Given the description of an element on the screen output the (x, y) to click on. 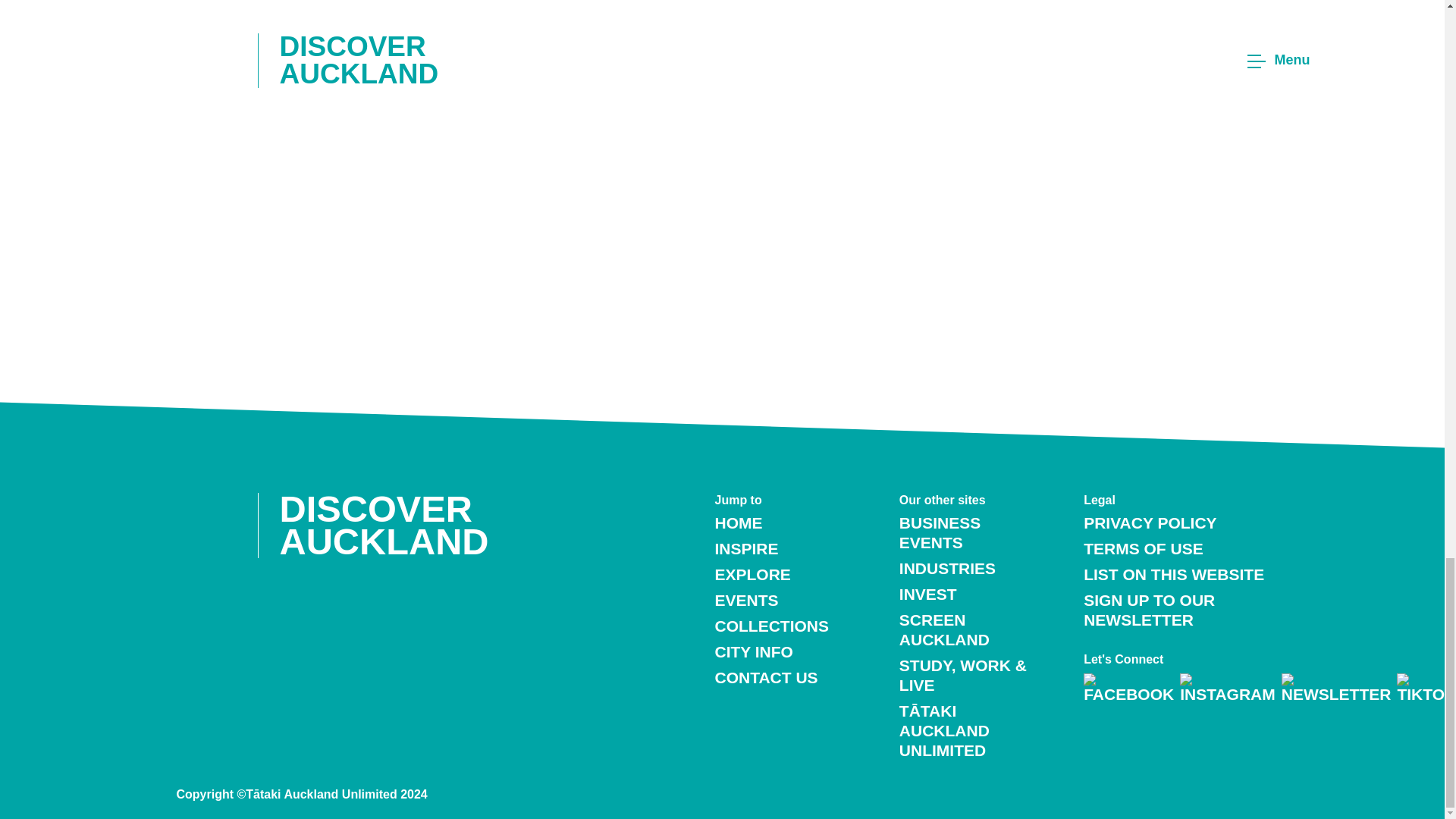
CONTACT US (765, 677)
PRIVACY POLICY (1149, 522)
SIGN UP TO OUR NEWSLETTER (1148, 609)
INDUSTRIES (947, 568)
TERMS OF USE (1143, 548)
INSPIRE (745, 548)
DISCOVER AUCKLAND (394, 525)
BUSINESS EVENTS (939, 532)
COLLECTIONS (771, 625)
LIST ON THIS WEBSITE (1173, 574)
CITY INFO (753, 651)
SCREEN AUCKLAND (944, 629)
HOME (737, 522)
EXPLORE (752, 574)
INVEST (927, 593)
